Given the description of an element on the screen output the (x, y) to click on. 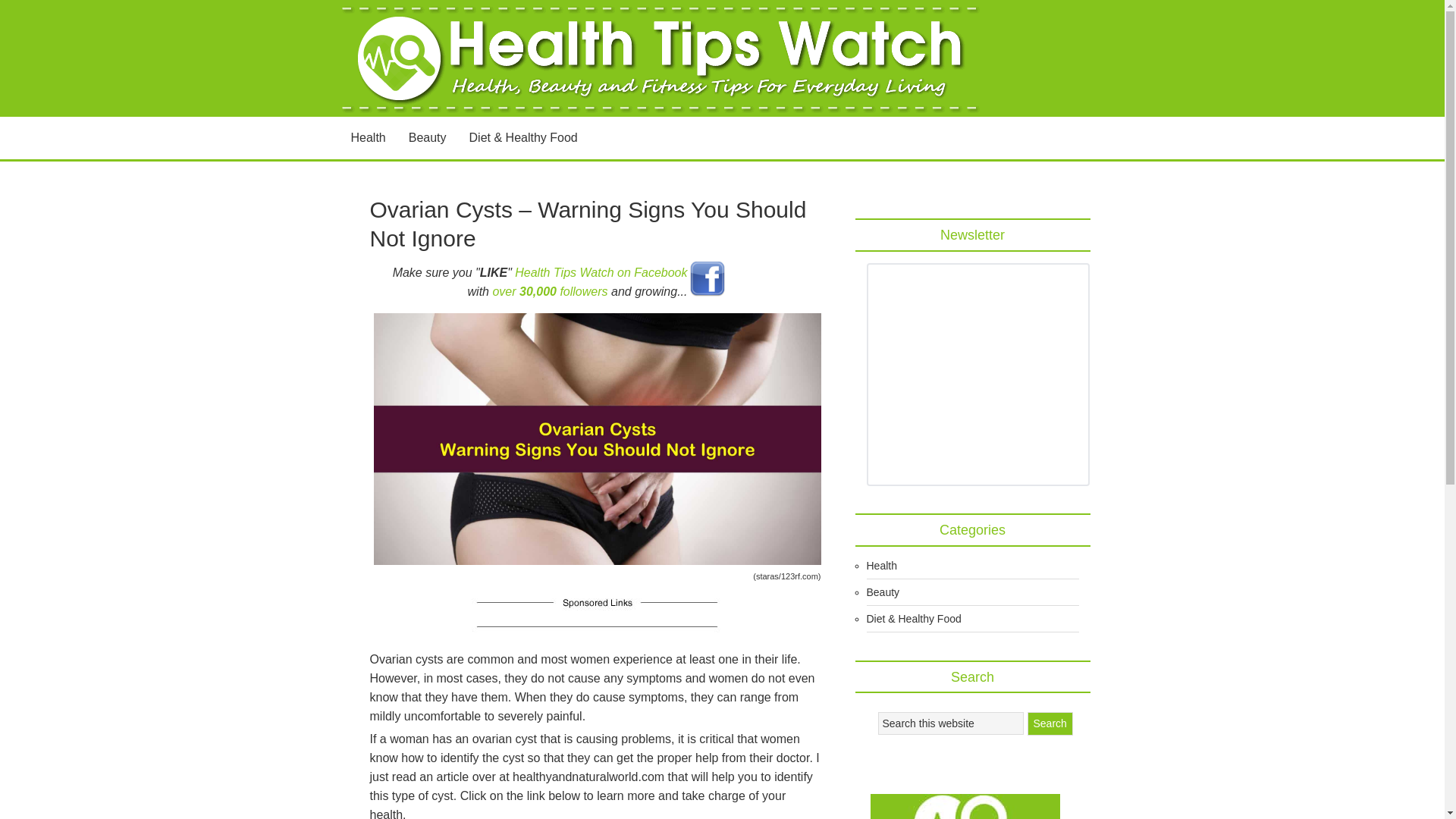
Search (1048, 723)
Health Tips Watch on Facebook (601, 271)
Health Tips Watch (661, 57)
Health (881, 565)
Beauty (427, 137)
Search (1048, 723)
over 30,000 followers (549, 291)
Beauty (882, 592)
Search (1048, 723)
Health (368, 137)
